Given the description of an element on the screen output the (x, y) to click on. 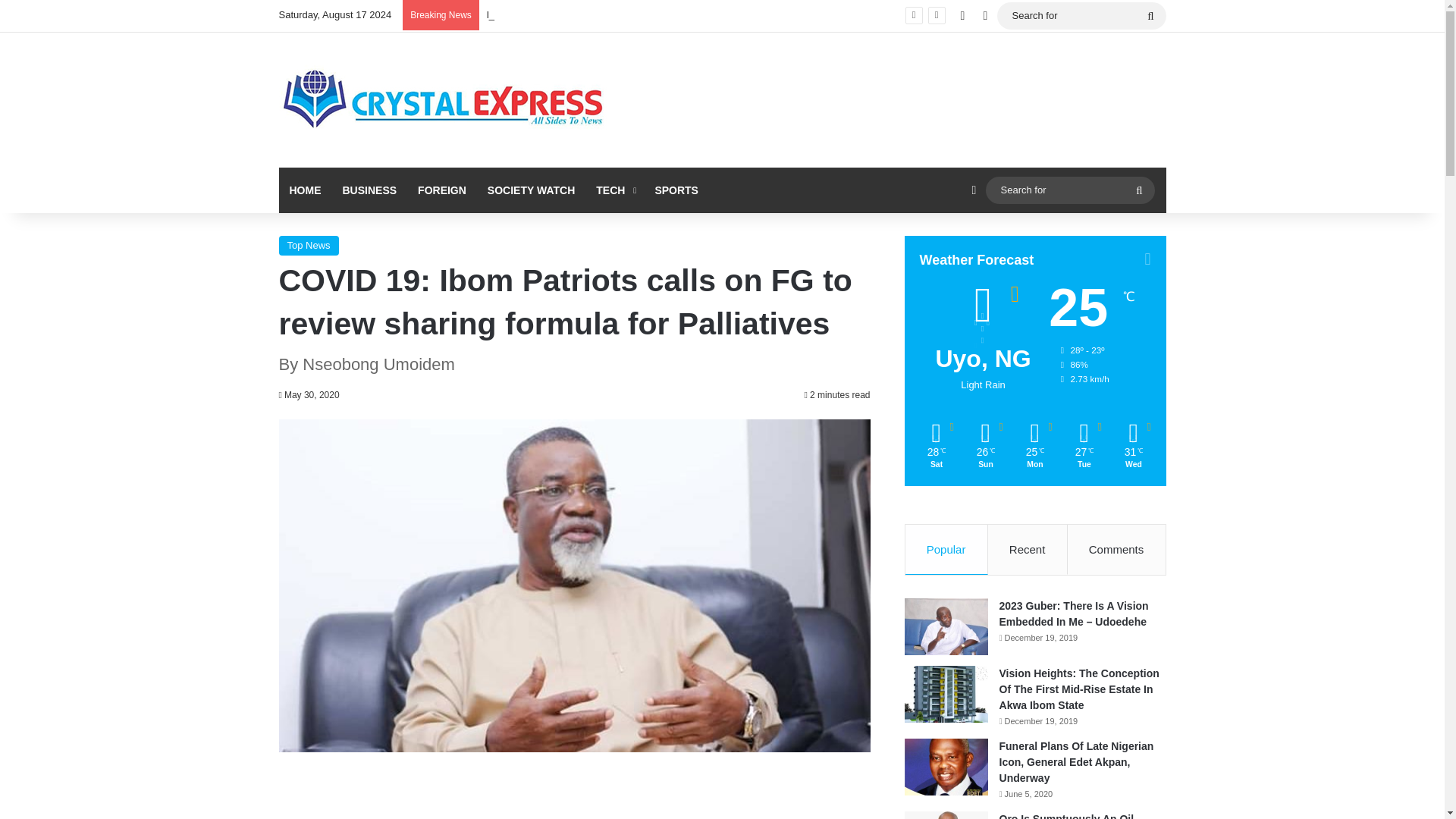
Search for (1150, 15)
Top News (309, 245)
Popular (946, 549)
Search for (1069, 189)
SPORTS (676, 189)
TECH (614, 189)
Comments (1116, 549)
BUSINESS (369, 189)
Search for (1080, 15)
Recent (1027, 549)
